Given the description of an element on the screen output the (x, y) to click on. 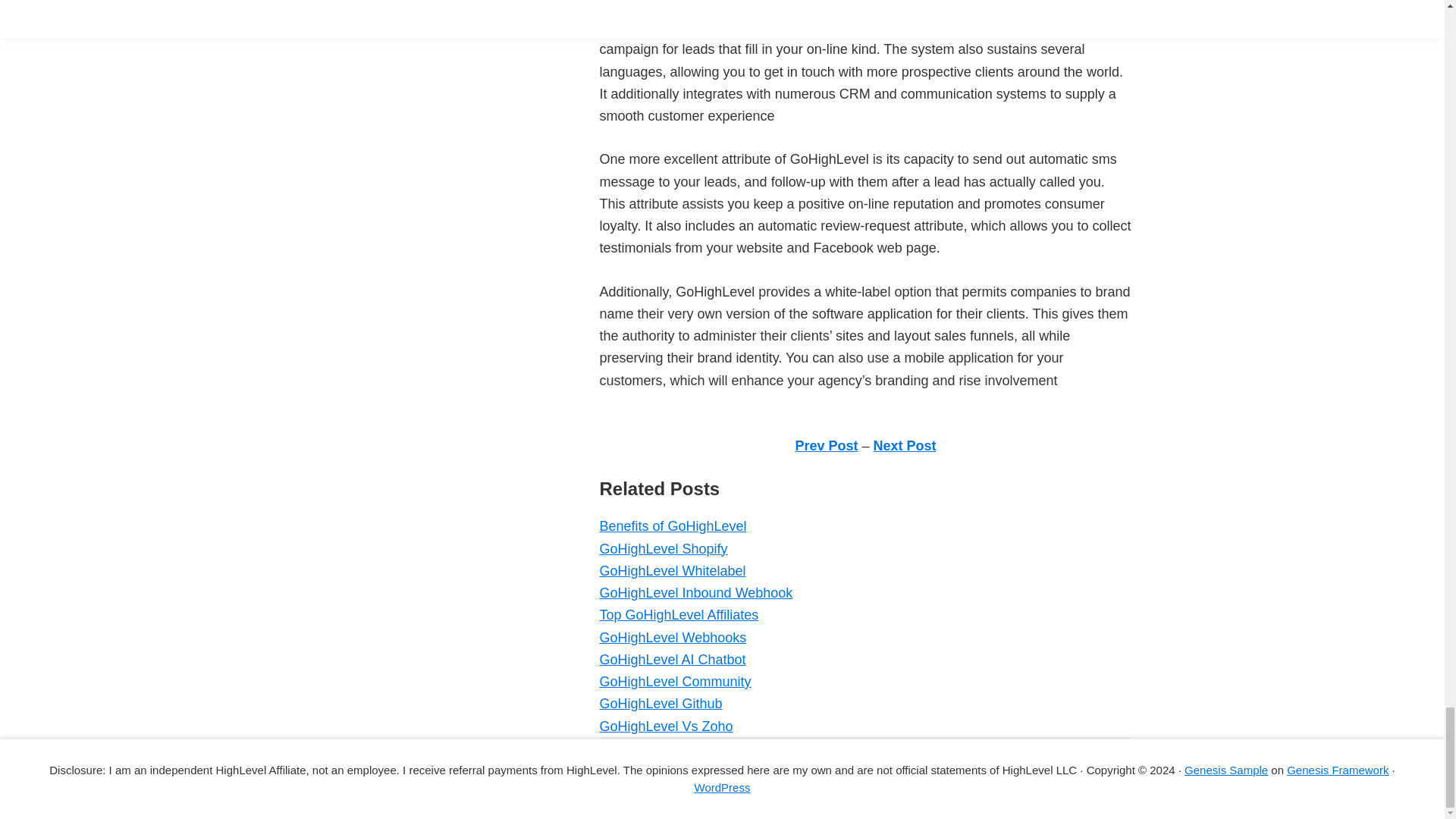
GoHighLevel Community (674, 681)
GoHighLevel AI Chatbot (671, 659)
Benefits of GoHighLevel (671, 525)
Prev Post (825, 445)
GoHighLevel Whitelabel (671, 570)
GoHighLevel Inbound Webhook (695, 592)
Next Post (904, 445)
GoHighLevel Vs Zoho (665, 726)
Top GoHighLevel Affiliates (678, 614)
GoHighLevel Vs Zoho (665, 726)
